Given the description of an element on the screen output the (x, y) to click on. 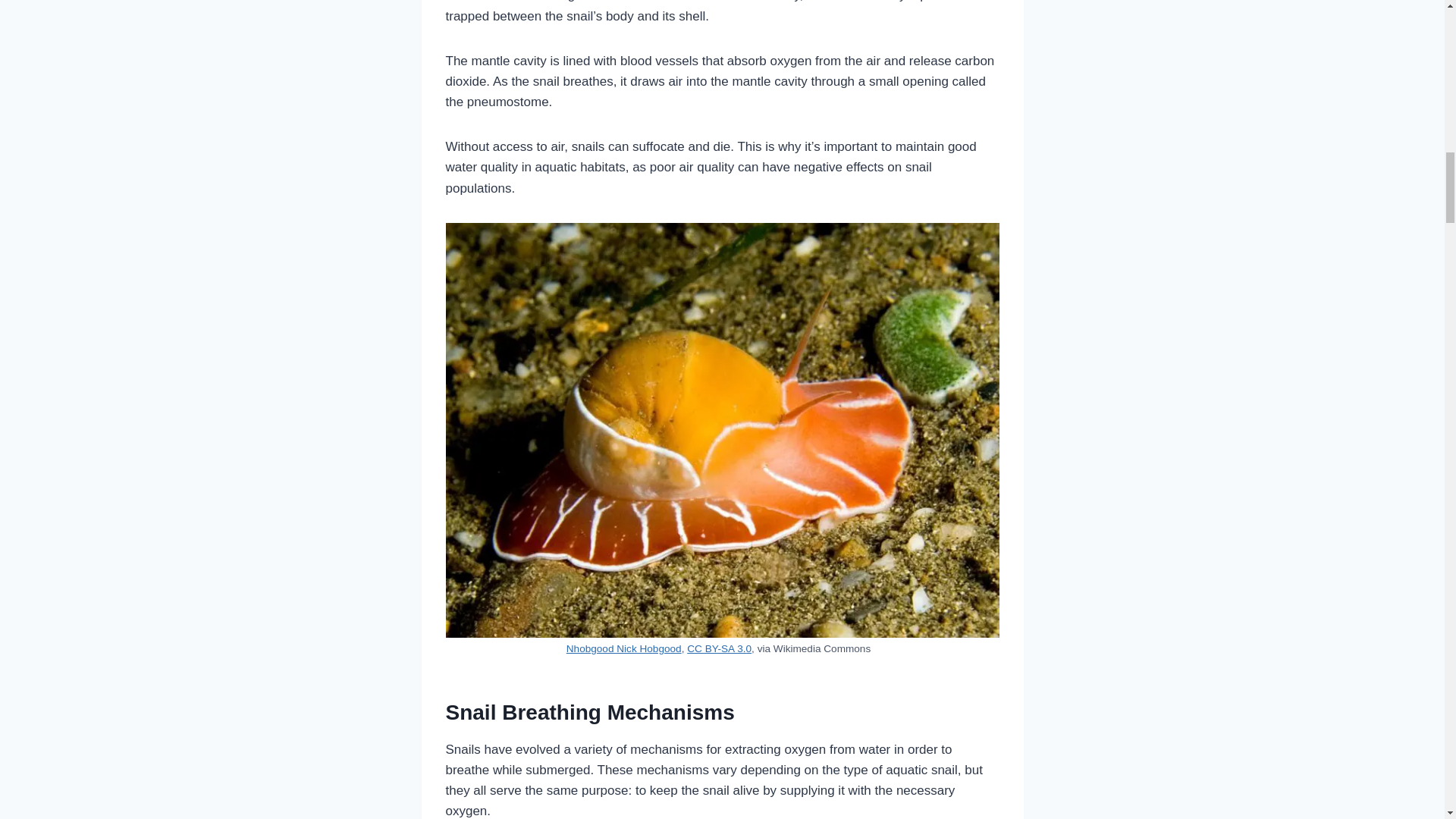
CC BY-SA 3.0 (719, 648)
Nhobgood Nick Hobgood (623, 648)
